Given the description of an element on the screen output the (x, y) to click on. 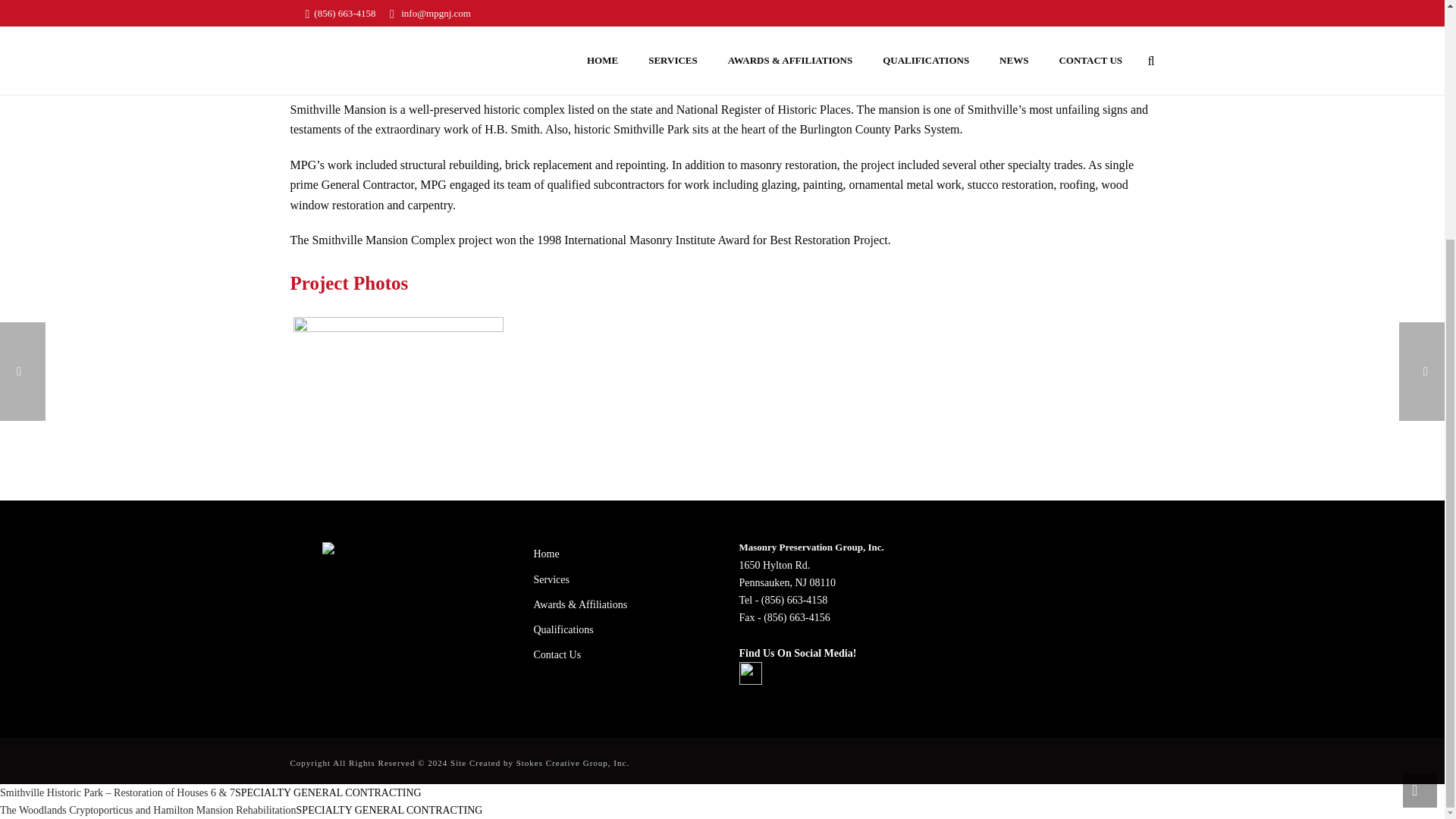
Contact Us (618, 654)
Stokes Creative Group, Inc. (573, 762)
Qualifications (618, 629)
Home (618, 553)
Services (618, 579)
